Given the description of an element on the screen output the (x, y) to click on. 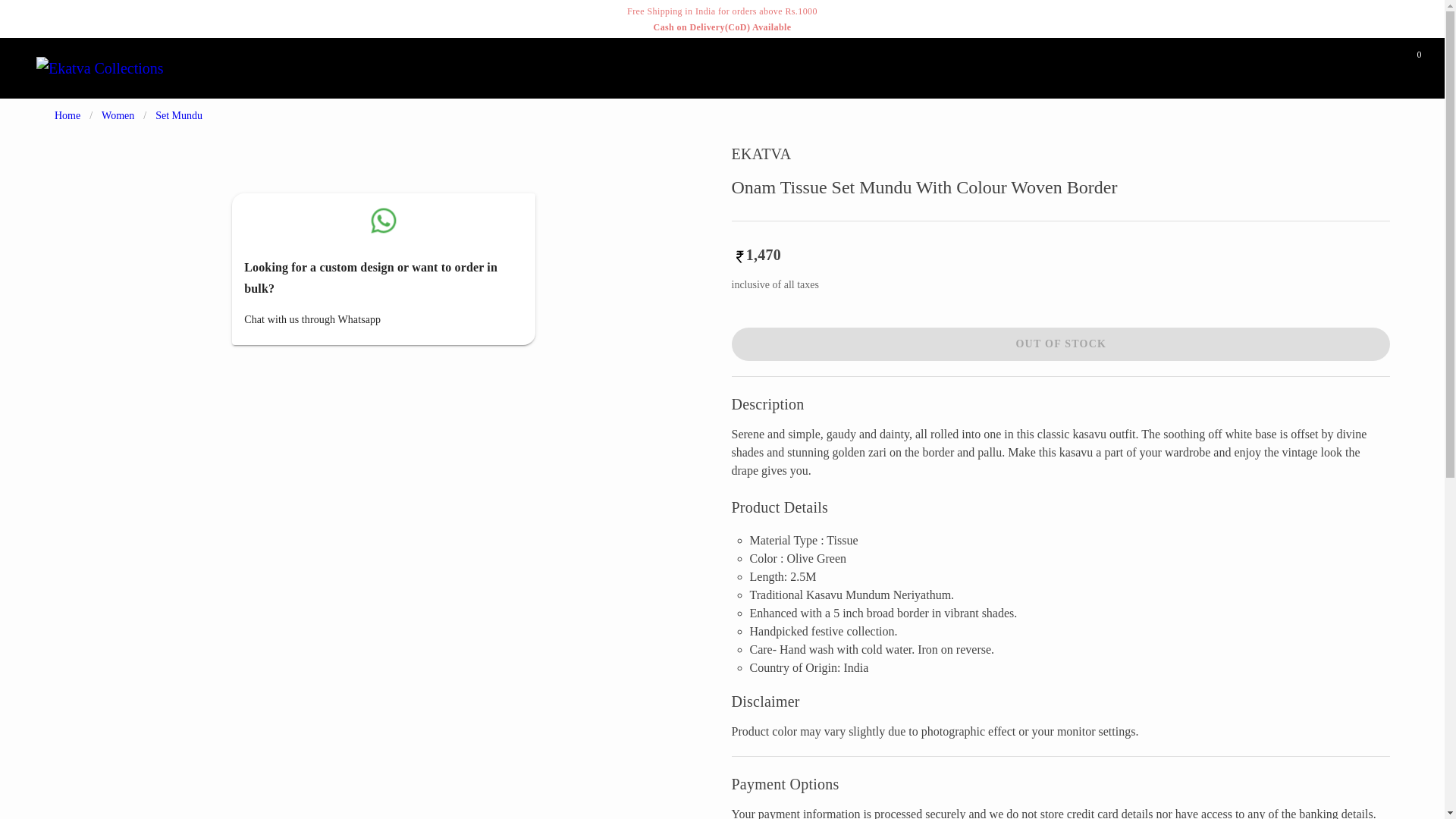
0 (1405, 67)
OUT OF STOCK (1060, 344)
Women (117, 115)
Home (722, 67)
Reviews (785, 67)
Set Mundu (178, 115)
Home (67, 115)
